Given the description of an element on the screen output the (x, y) to click on. 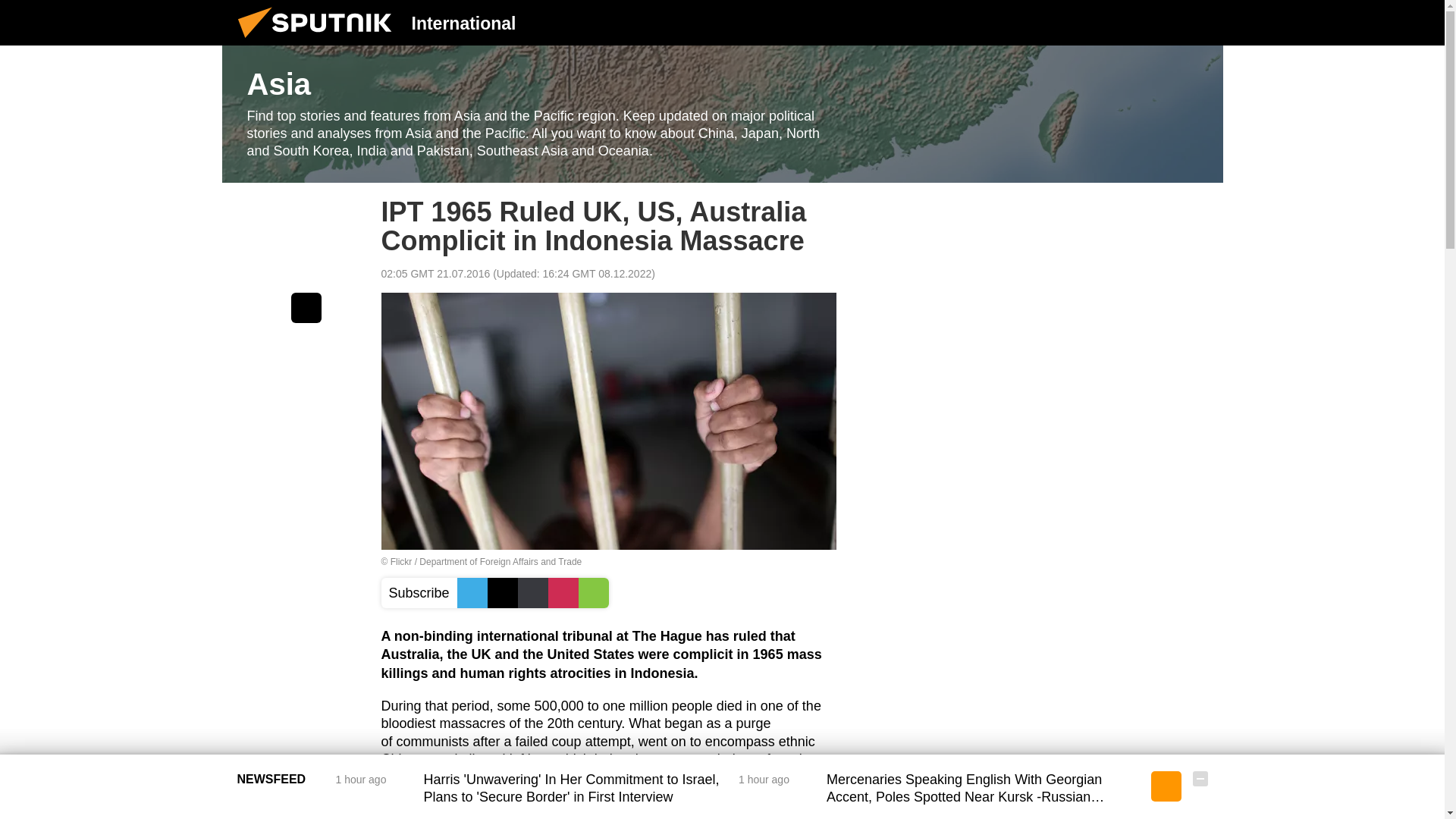
Chats (1199, 22)
Authorization (1123, 22)
Sputnik International (319, 41)
